Given the description of an element on the screen output the (x, y) to click on. 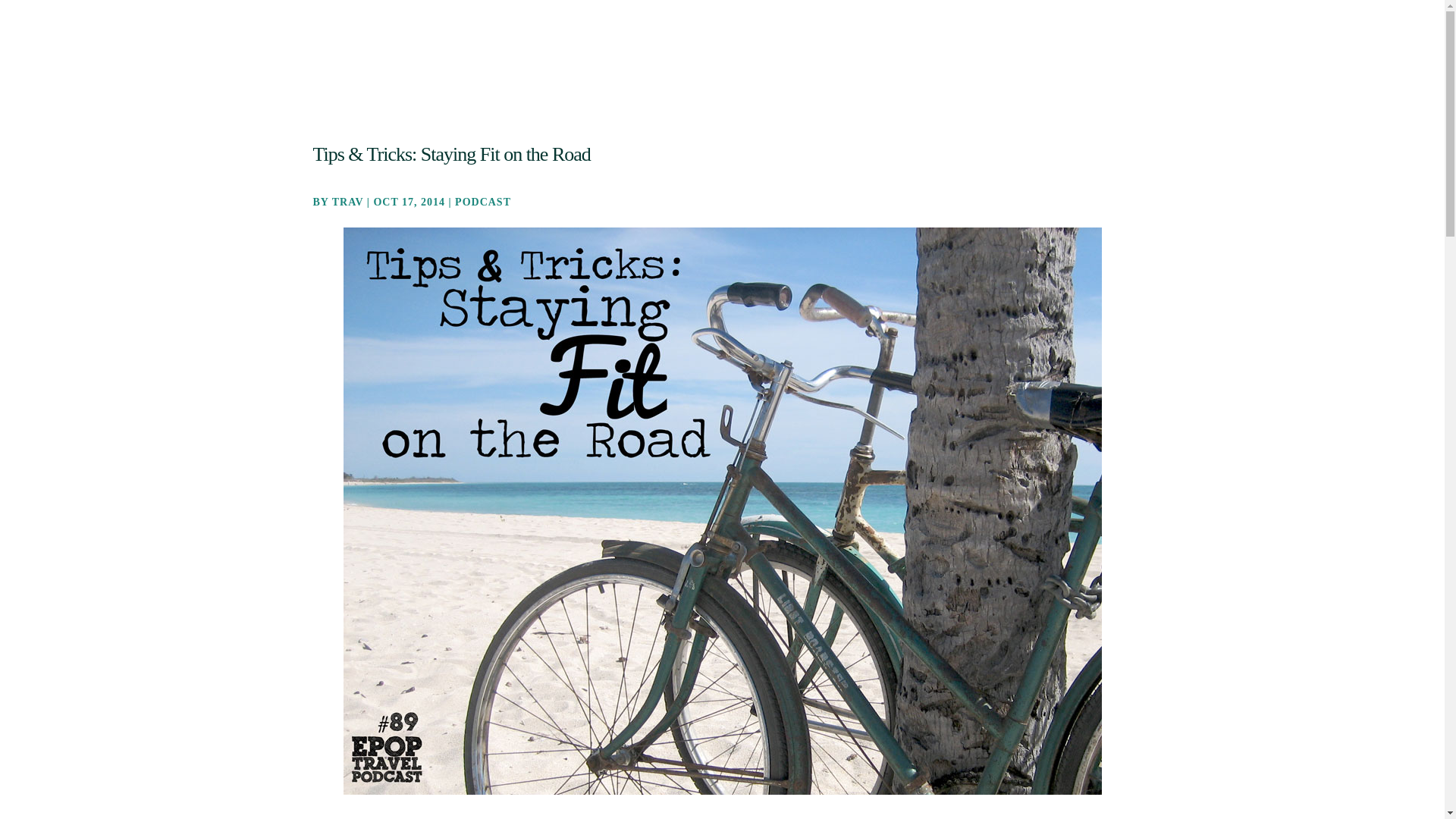
TRAV (347, 202)
Resources (1077, 43)
Posts by Trav (347, 202)
Best Travel Cards (991, 43)
PODCAST (482, 202)
Podcast (873, 43)
